Given the description of an element on the screen output the (x, y) to click on. 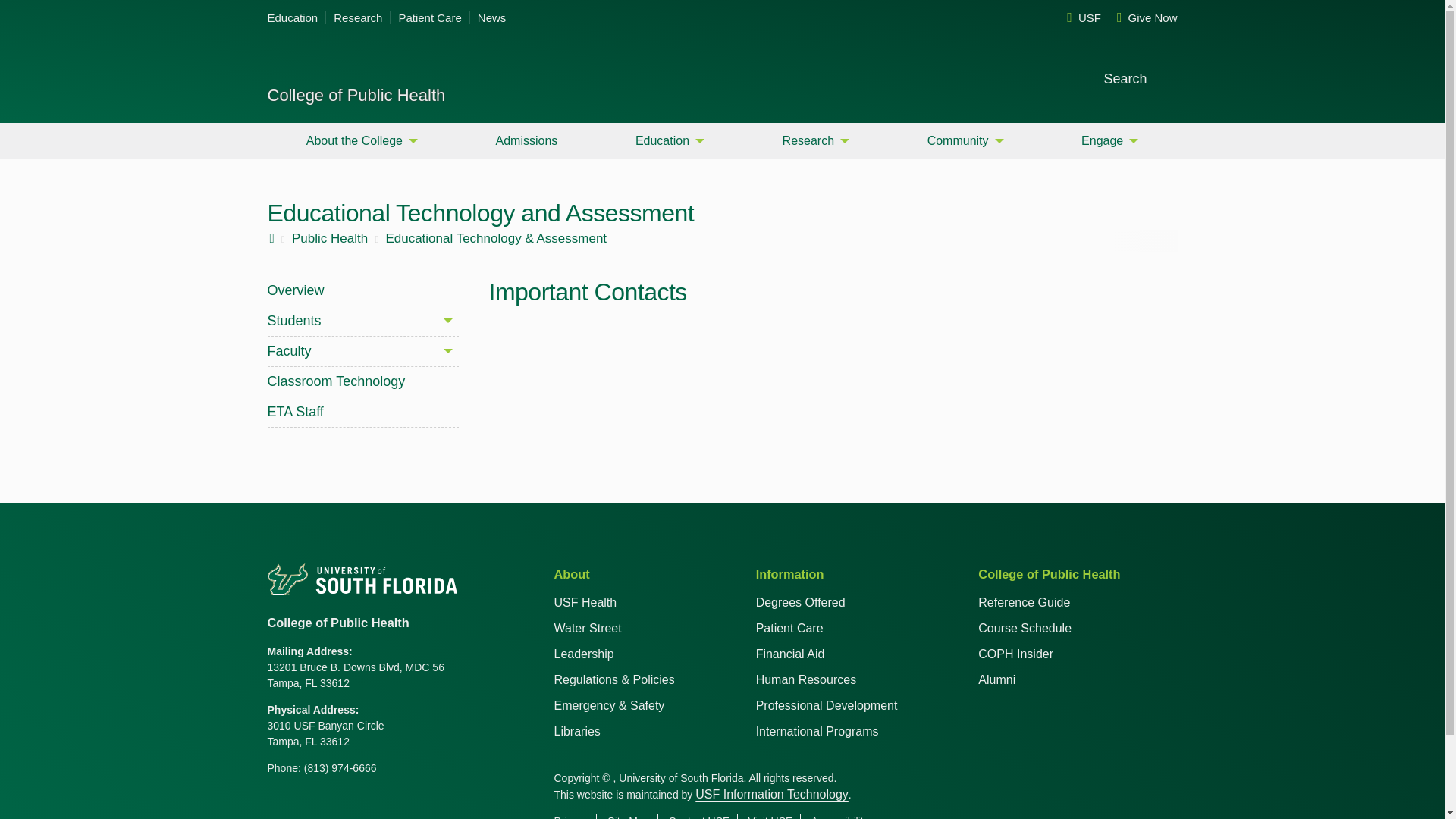
About the College (361, 140)
Research (358, 17)
Community (965, 140)
Patient Care (429, 17)
Admissions (526, 140)
Give Now (1143, 17)
Submit Search (1165, 77)
USF Health Home (335, 67)
News (488, 17)
College of Public Health (355, 94)
